Given the description of an element on the screen output the (x, y) to click on. 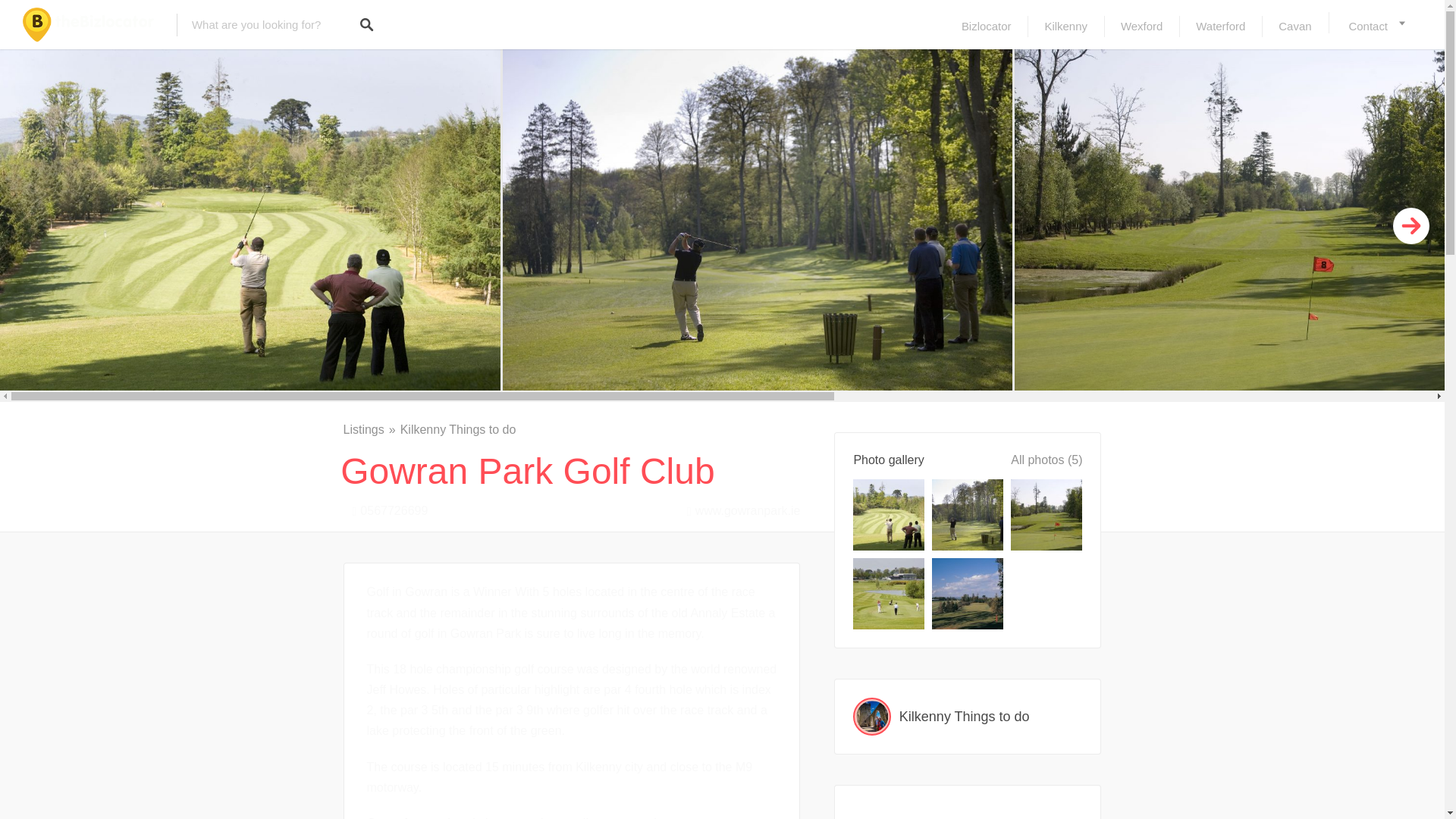
Kilkenny (1065, 26)
Waterford (1220, 26)
Contact (1375, 26)
Kilkenny Things to do (967, 716)
Kilkenny Things to do (458, 429)
Bizlocator (985, 26)
Cavan (1294, 26)
www.gowranpark.ie (739, 507)
0567726699 (385, 507)
Listings (370, 429)
Wexford (1141, 26)
